Given the description of an element on the screen output the (x, y) to click on. 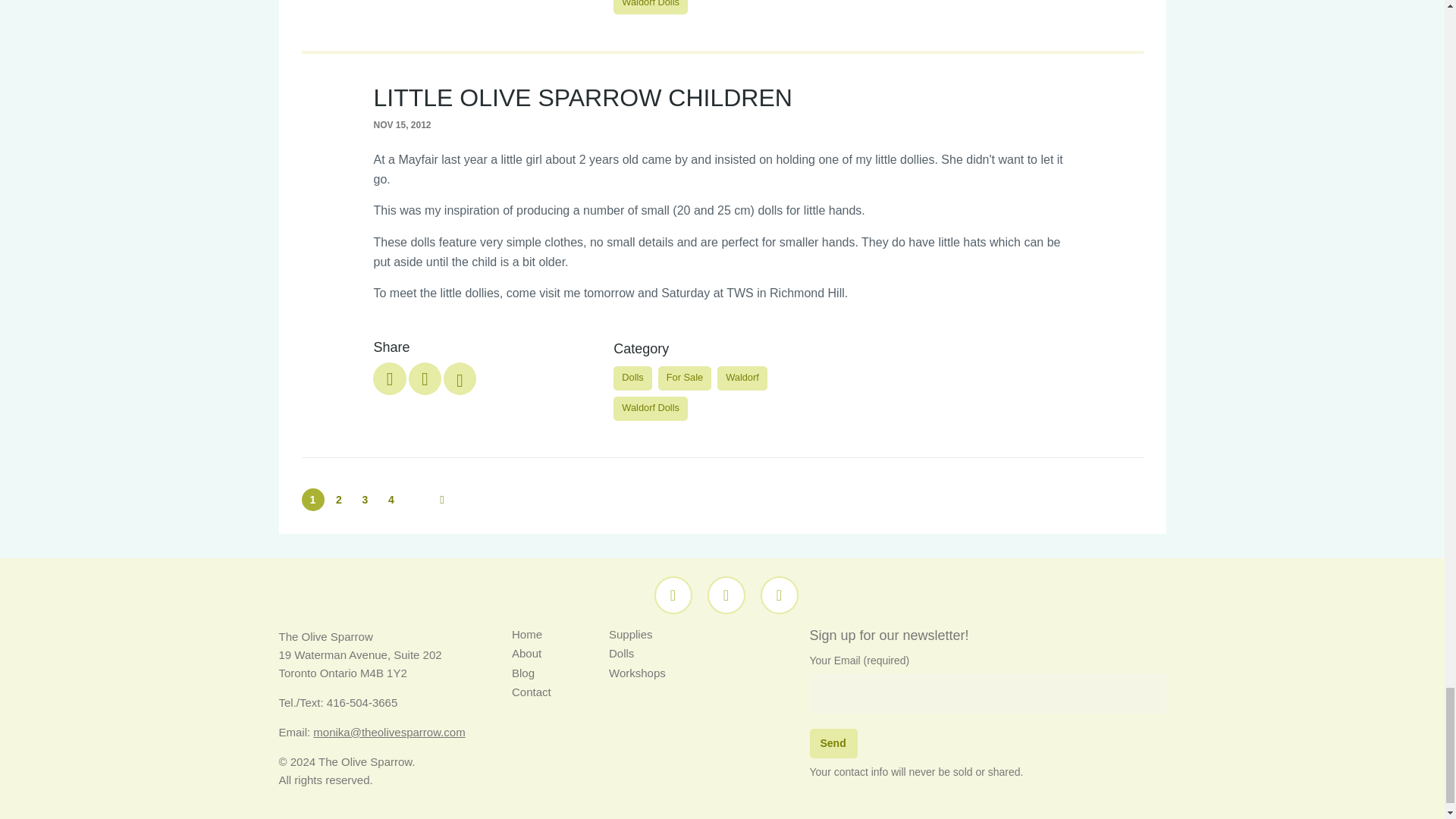
Send (833, 743)
